Given the description of an element on the screen output the (x, y) to click on. 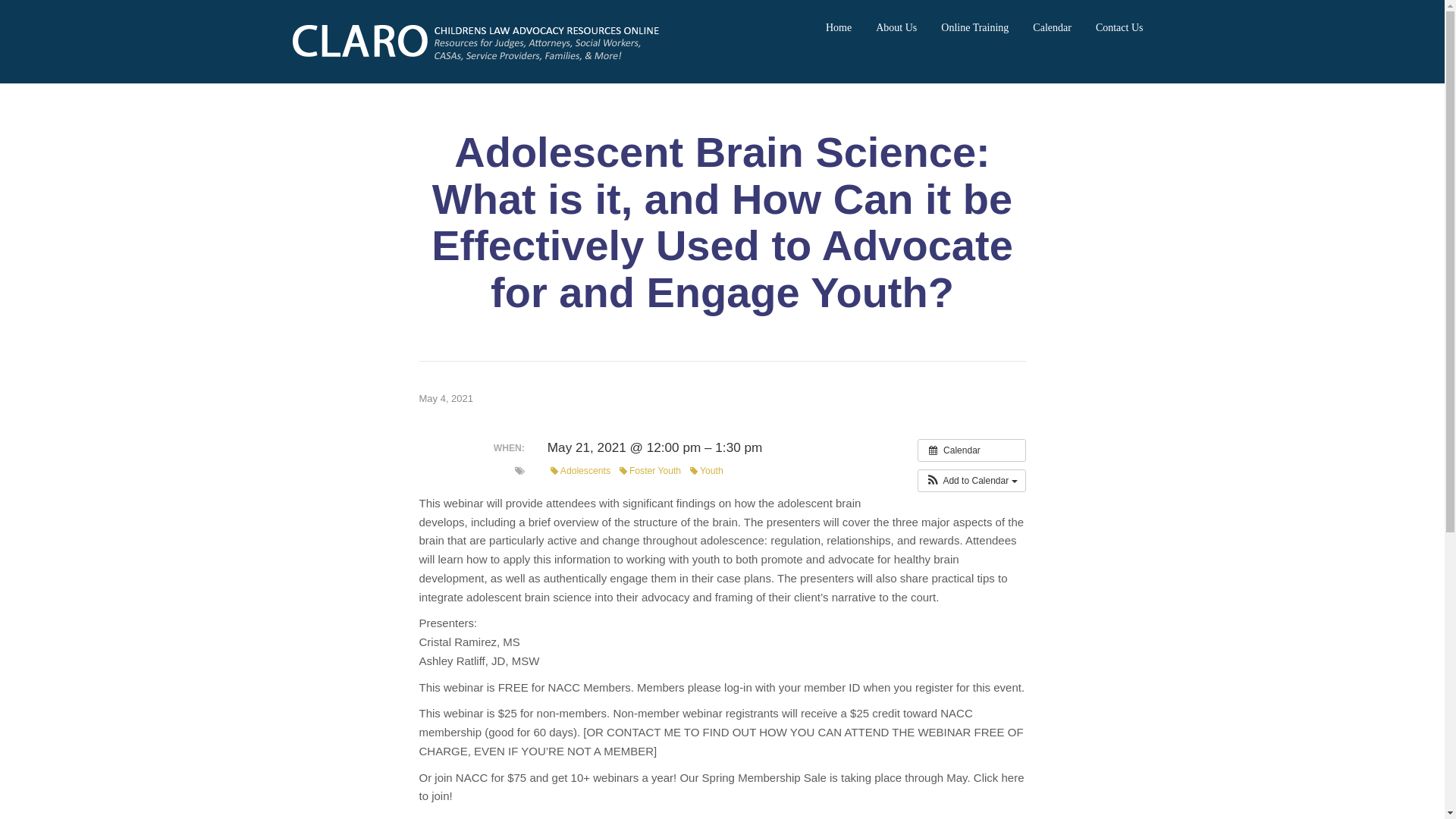
Foster Youth (649, 471)
Calendar (1051, 27)
Tags (519, 470)
View all events (971, 449)
Youth (706, 471)
Online Training (974, 27)
Calendar (971, 449)
About Us (896, 27)
Contact Us (1119, 27)
Adolescents (579, 471)
